Given the description of an element on the screen output the (x, y) to click on. 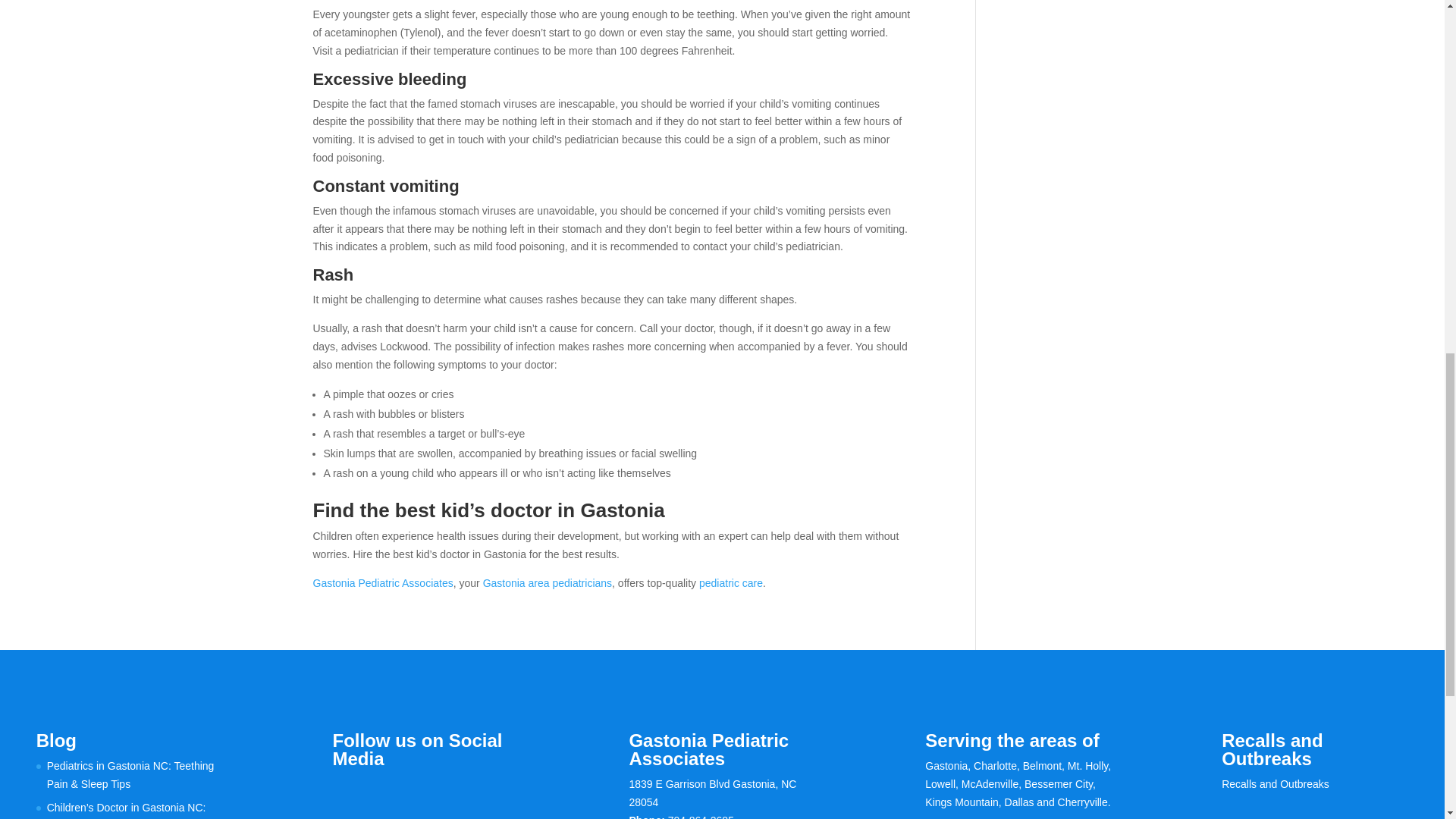
pediatric care (730, 582)
Recalls and Outbreaks (1275, 784)
Gastonia area pediatricians (547, 582)
Follow Us on Instagram (408, 791)
Follow Us on Twitter (376, 791)
Gastonia Pediatric Associates (382, 582)
Follow Us on Facebook (344, 791)
